Given the description of an element on the screen output the (x, y) to click on. 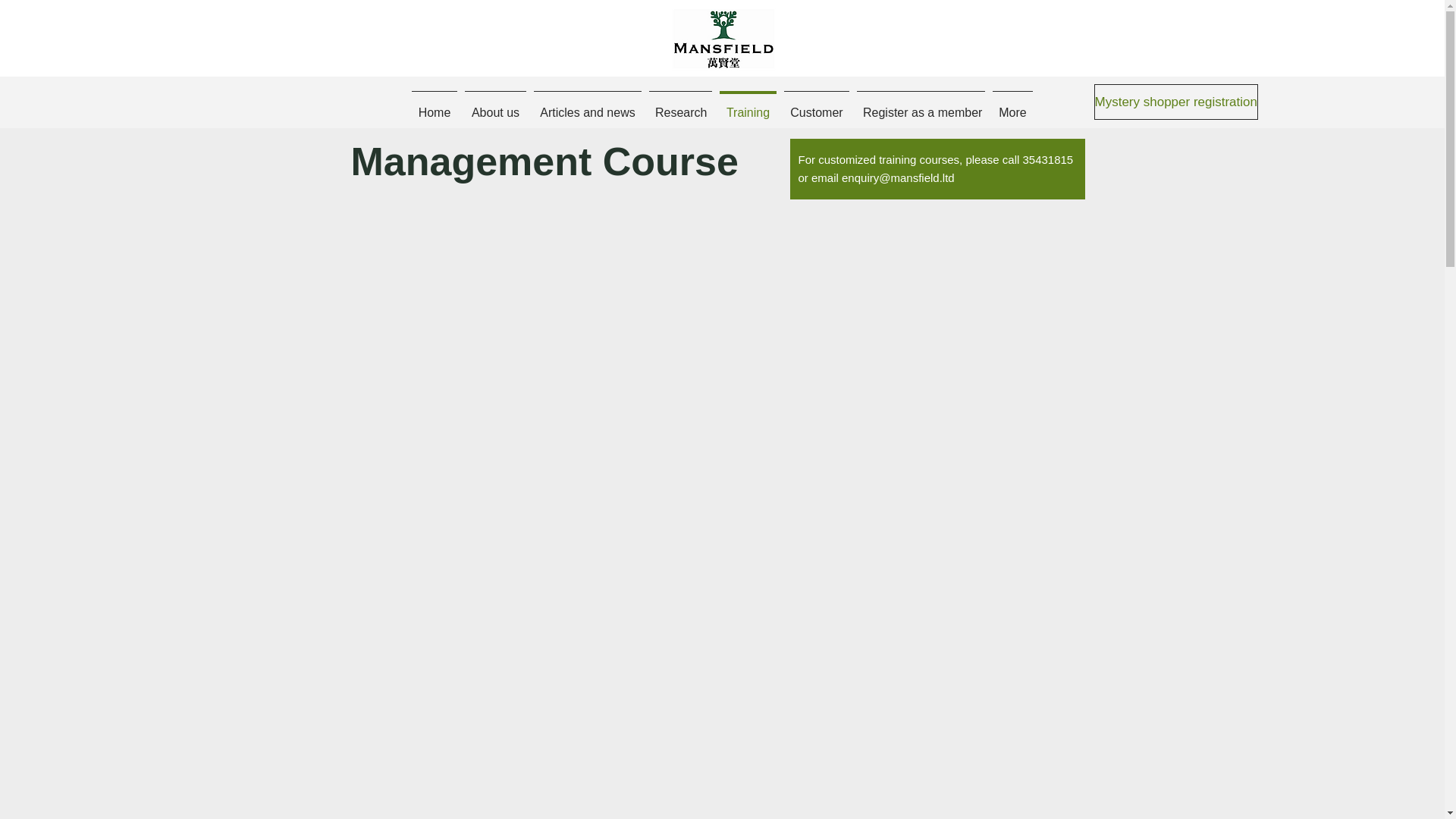
Register as a member (920, 105)
Research (680, 105)
Training (748, 105)
Home (434, 105)
Customer (816, 105)
Mystery shopper registration (1175, 101)
Articles and news (587, 105)
About us (495, 105)
